Given the description of an element on the screen output the (x, y) to click on. 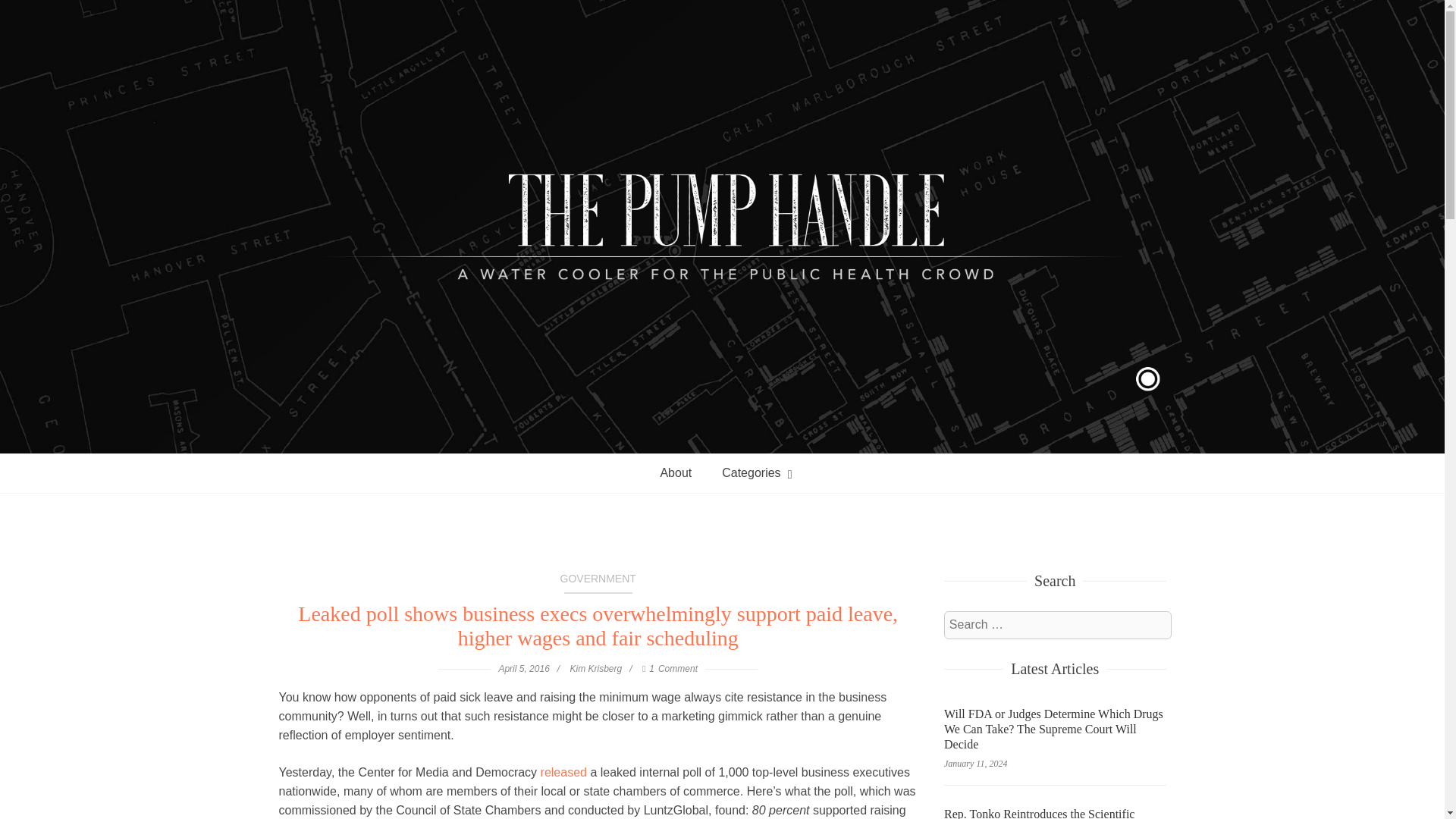
released (563, 771)
GOVERNMENT (598, 581)
About (675, 473)
Search for: (1057, 624)
